Given the description of an element on the screen output the (x, y) to click on. 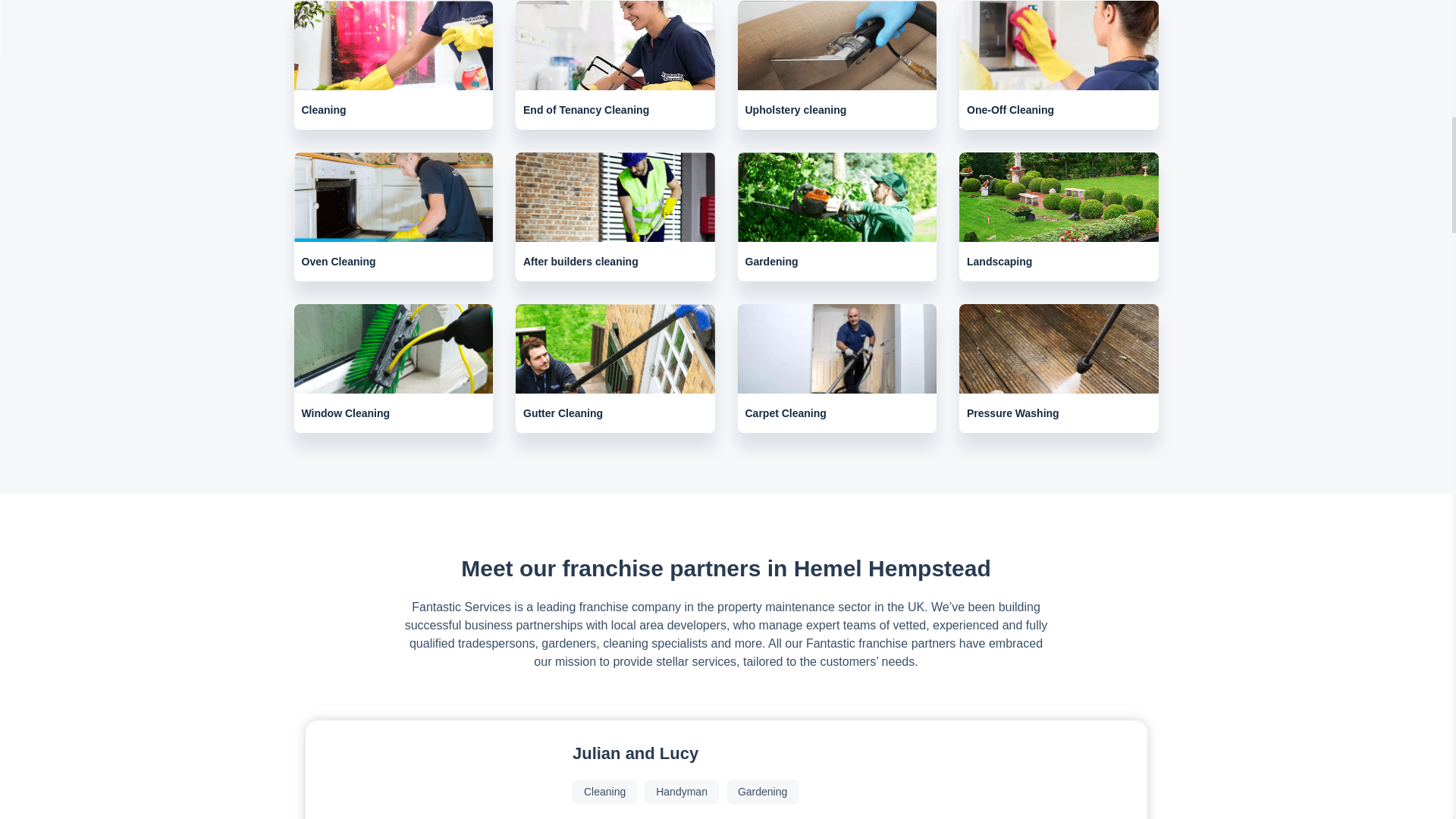
Oven Cleaning (393, 216)
After builders cleaning (614, 216)
Cleaning (393, 64)
One-Off Cleaning (1058, 64)
Upholstery cleaning (836, 64)
Landscaping (1058, 216)
End of Tenancy Cleaning (614, 64)
Gardening (836, 216)
